Given the description of an element on the screen output the (x, y) to click on. 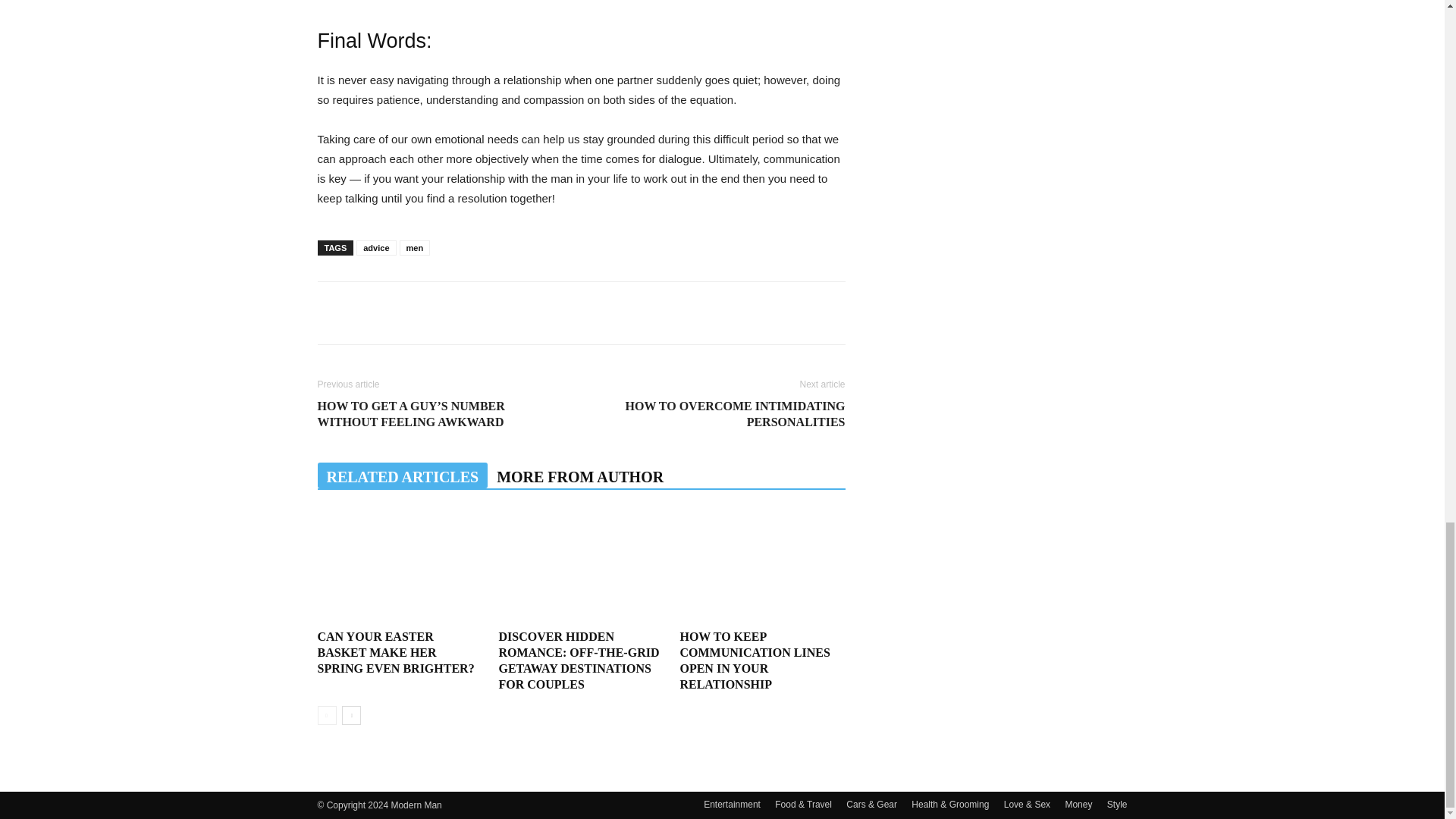
How to Keep Communication Lines Open in Your Relationship (761, 567)
Can Your Easter Basket Make Her Spring Even Brighter? (399, 567)
Can Your Easter Basket Make Her Spring Even Brighter? (395, 651)
How to Keep Communication Lines Open in Your Relationship (754, 660)
